Given the description of an element on the screen output the (x, y) to click on. 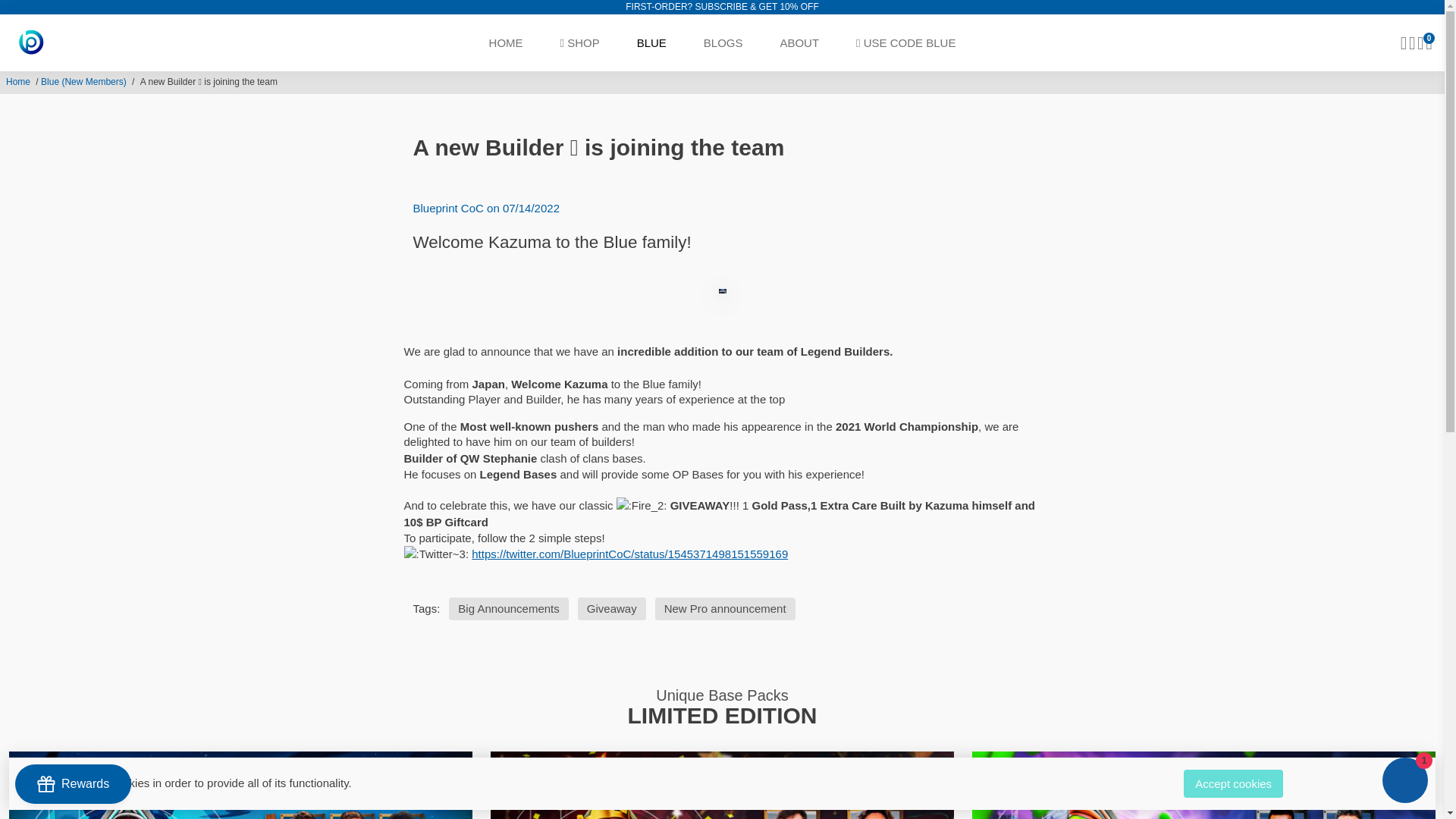
Shopify online store chat (1404, 781)
Home (17, 81)
BLOGS (723, 42)
Twitter BP Kazuma Giveaway (629, 553)
HOME (506, 42)
BLUE (651, 42)
